Given the description of an element on the screen output the (x, y) to click on. 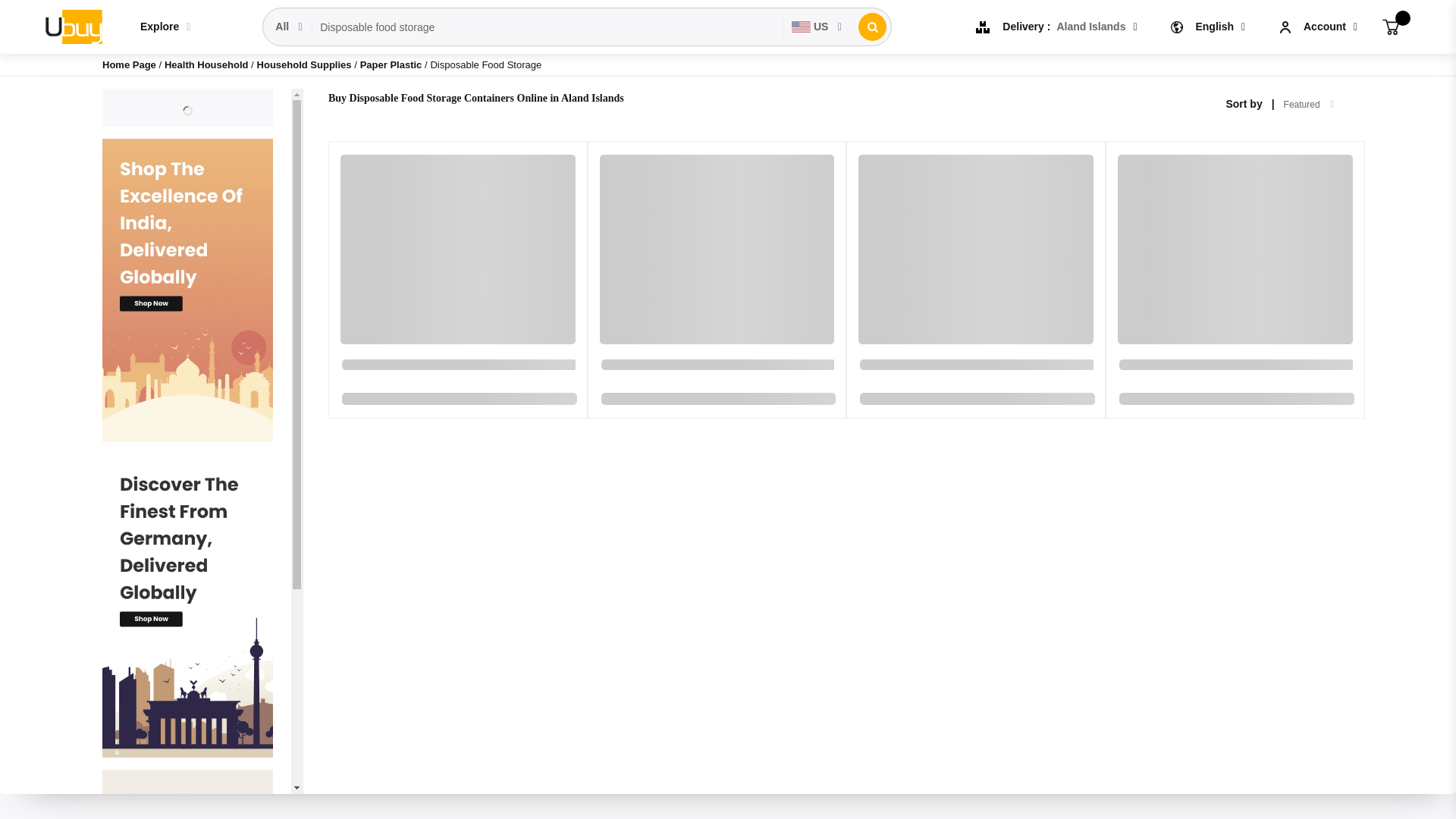
Ubuy (73, 26)
Home Page (128, 64)
Disposable food storage (548, 26)
Disposable food storage (548, 26)
Cart (1390, 26)
Health Household (207, 64)
All (289, 26)
US (817, 26)
Home Page (128, 64)
